Given the description of an element on the screen output the (x, y) to click on. 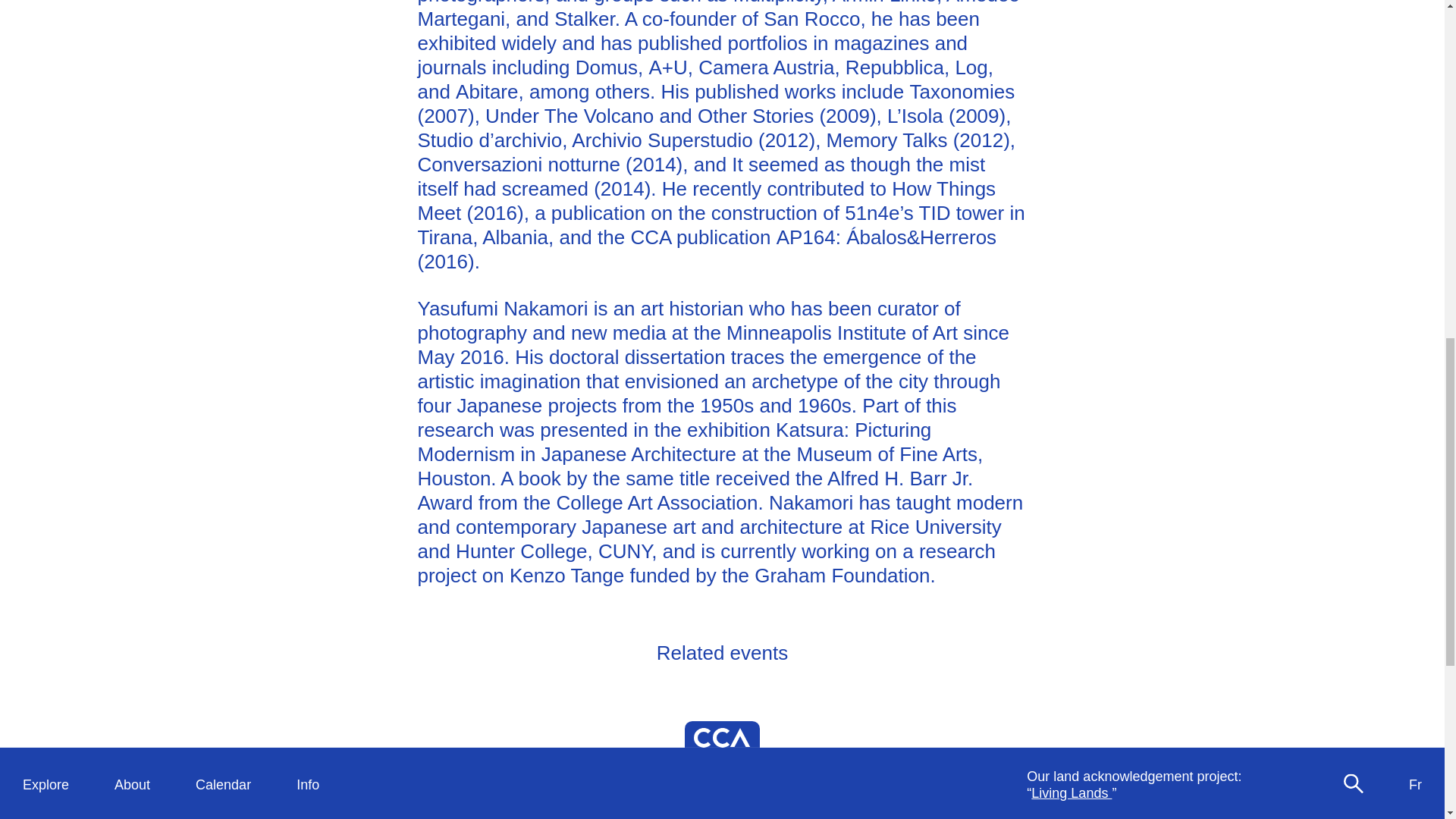
Sign up (1049, 69)
Privacy Policy (1129, 136)
Contact us (329, 96)
YouTube (1316, 86)
Make a gift (1059, 102)
Visit us (318, 12)
Press room (331, 79)
Articles (44, 12)
Past (208, 29)
Publications (151, 79)
